Given the description of an element on the screen output the (x, y) to click on. 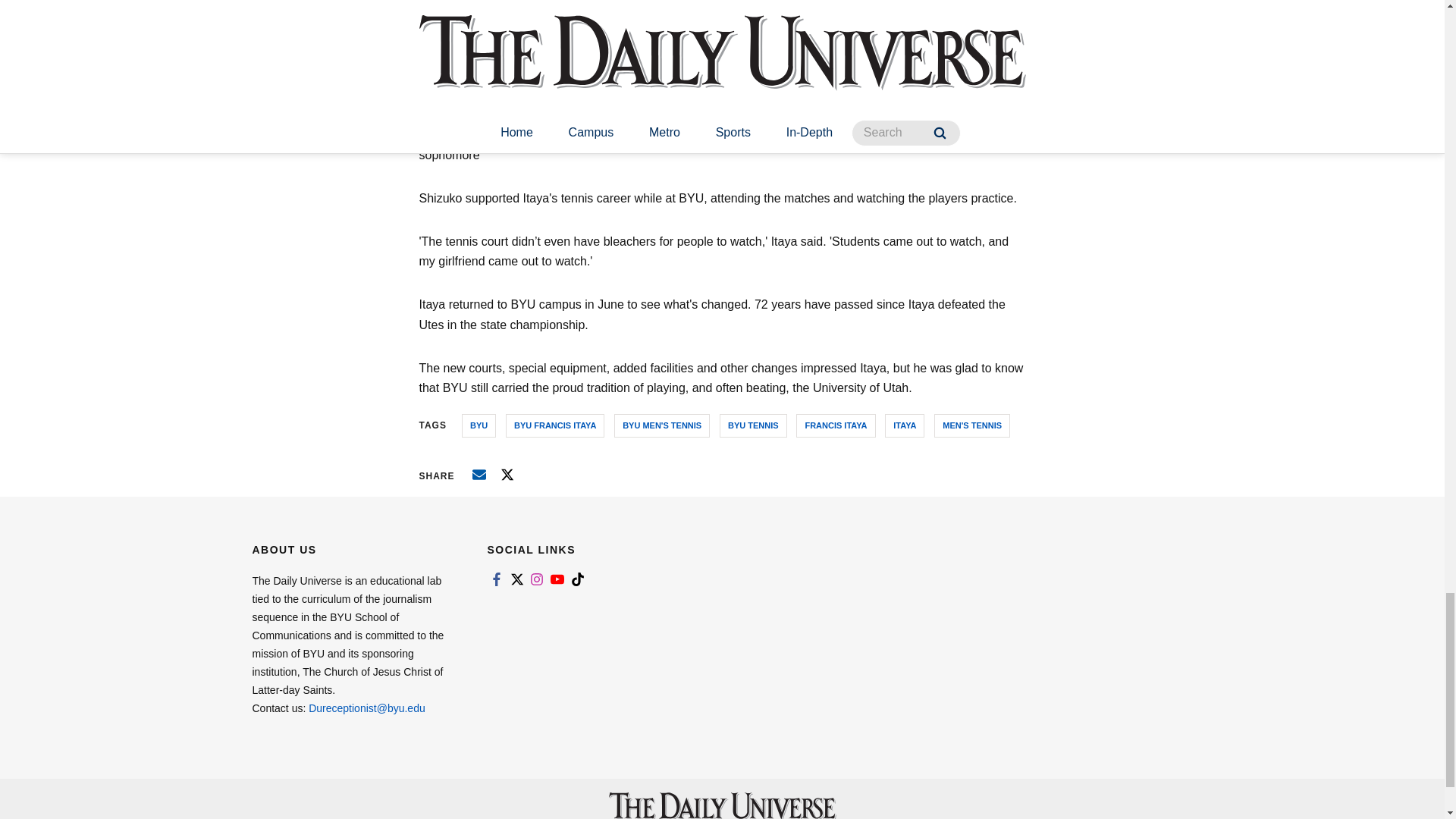
Email (478, 474)
Link to tiktok (577, 579)
BYU FRANCIS ITAYA (554, 425)
FRANCIS ITAYA (835, 425)
BYU (478, 425)
MEN'S TENNIS (972, 425)
Link to facebook (495, 579)
Link to twitter (515, 579)
BYU TENNIS (753, 425)
Link to youtube (557, 579)
